Given the description of an element on the screen output the (x, y) to click on. 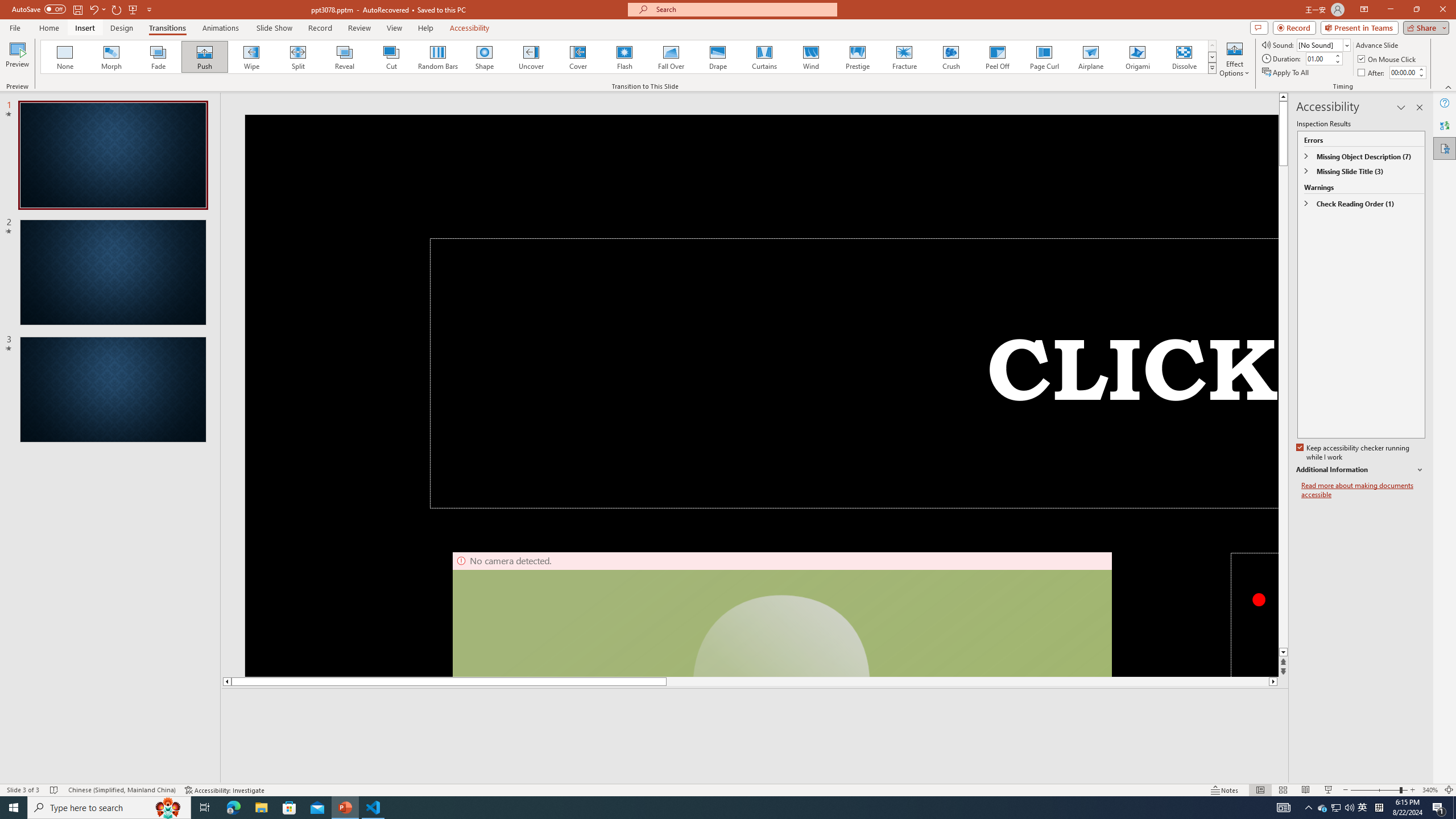
On Mouse Click (1387, 58)
Airplane (1090, 56)
Push (205, 56)
Wind (810, 56)
Fracture (903, 56)
Duration (1319, 58)
